Given the description of an element on the screen output the (x, y) to click on. 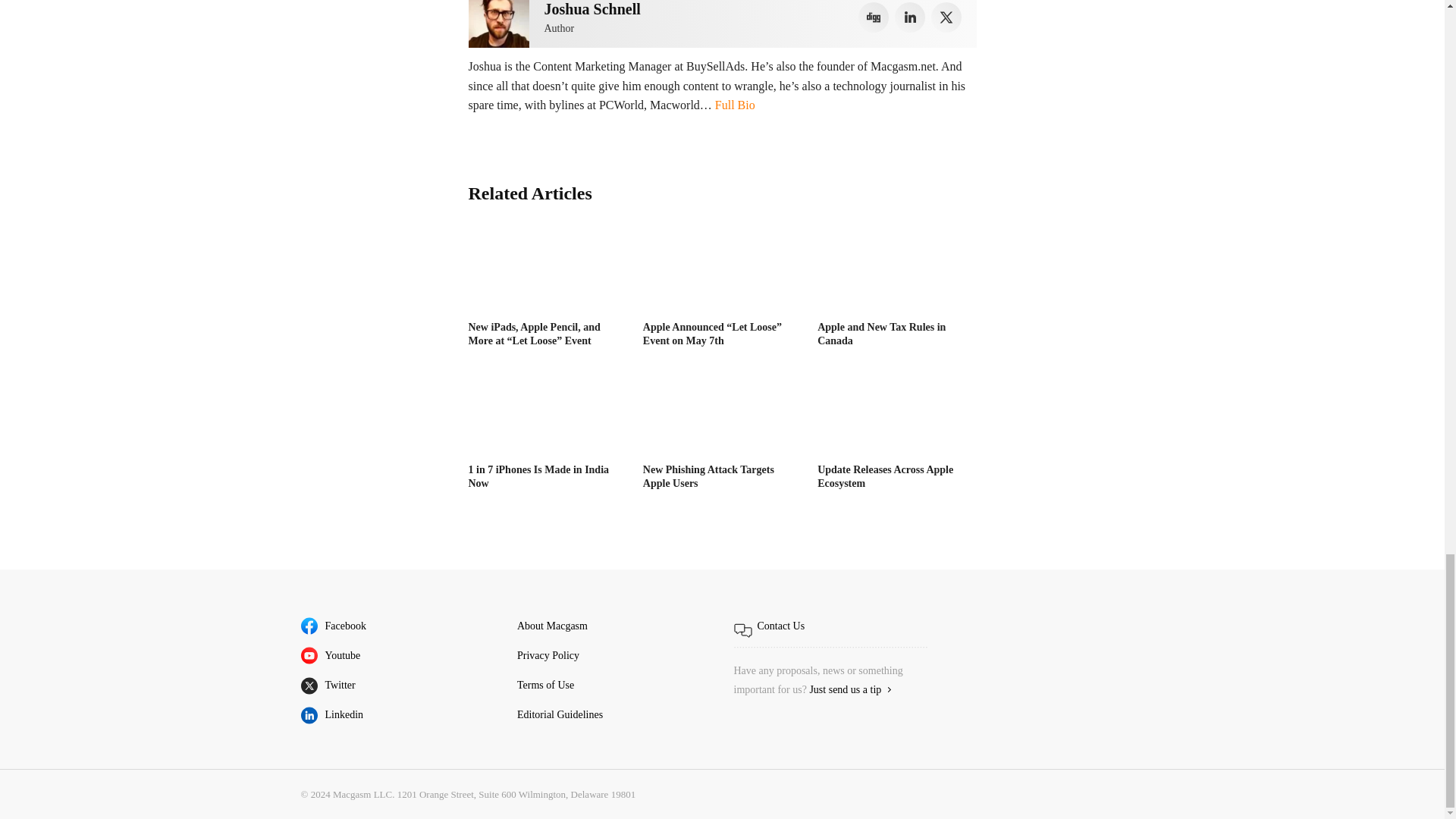
Digg (873, 17)
Linkedin (909, 17)
Full Bio (734, 104)
Joshua Schnell (592, 8)
Twitter (945, 17)
Joshua Schnell (498, 23)
